Given the description of an element on the screen output the (x, y) to click on. 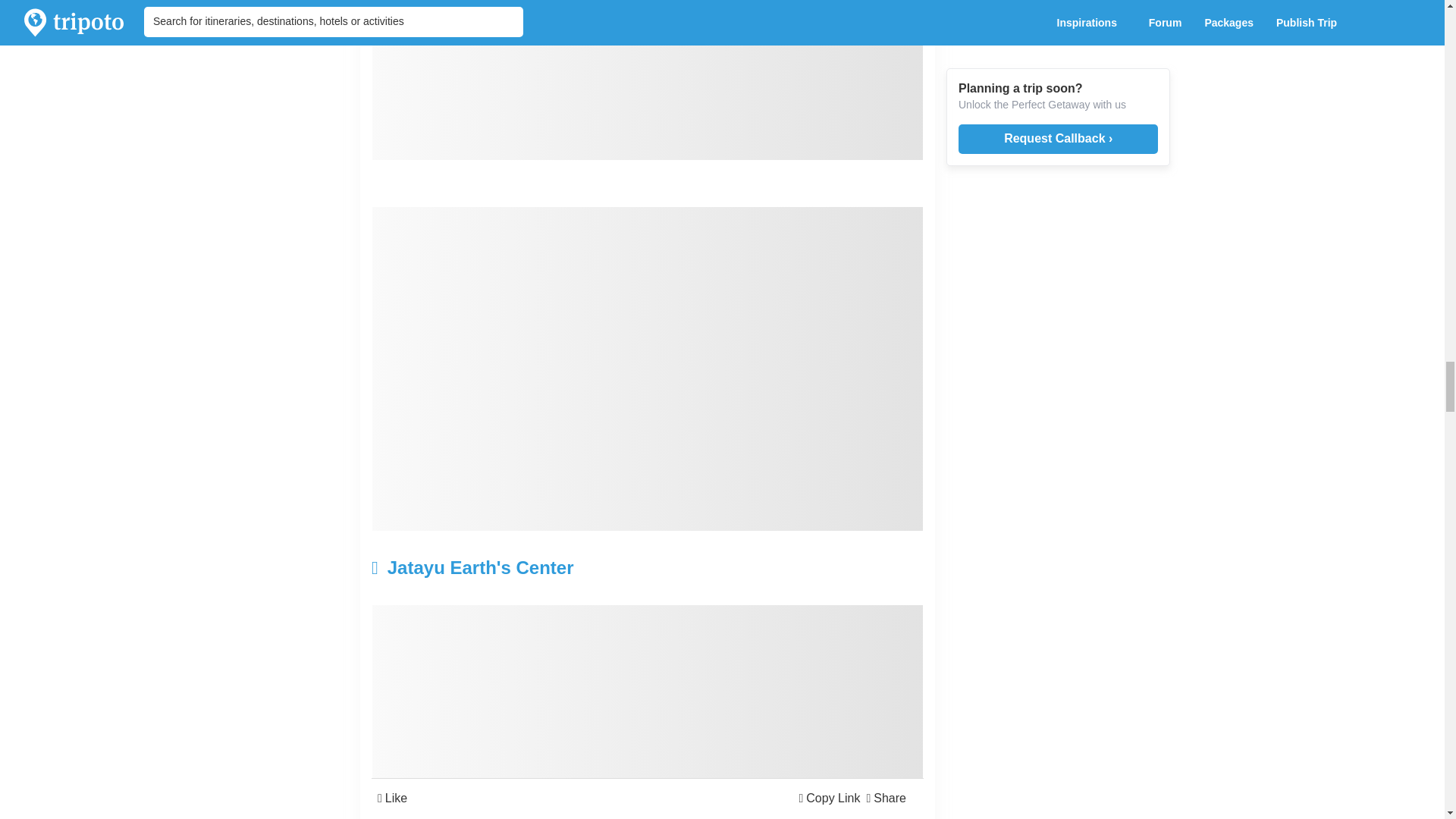
Jatayu Earth's Center (555, 567)
